Given the description of an element on the screen output the (x, y) to click on. 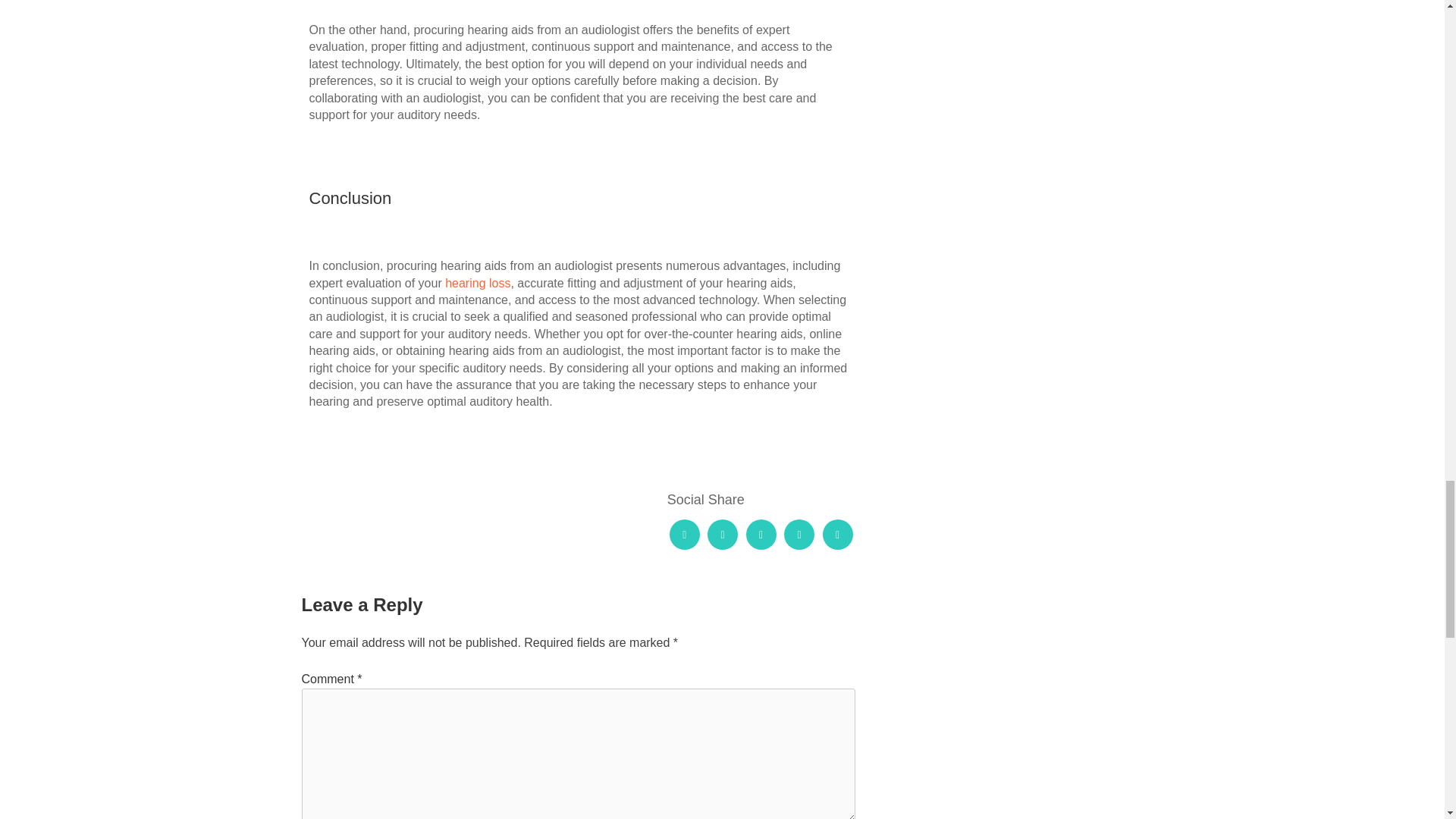
hearing loss (476, 282)
